Given the description of an element on the screen output the (x, y) to click on. 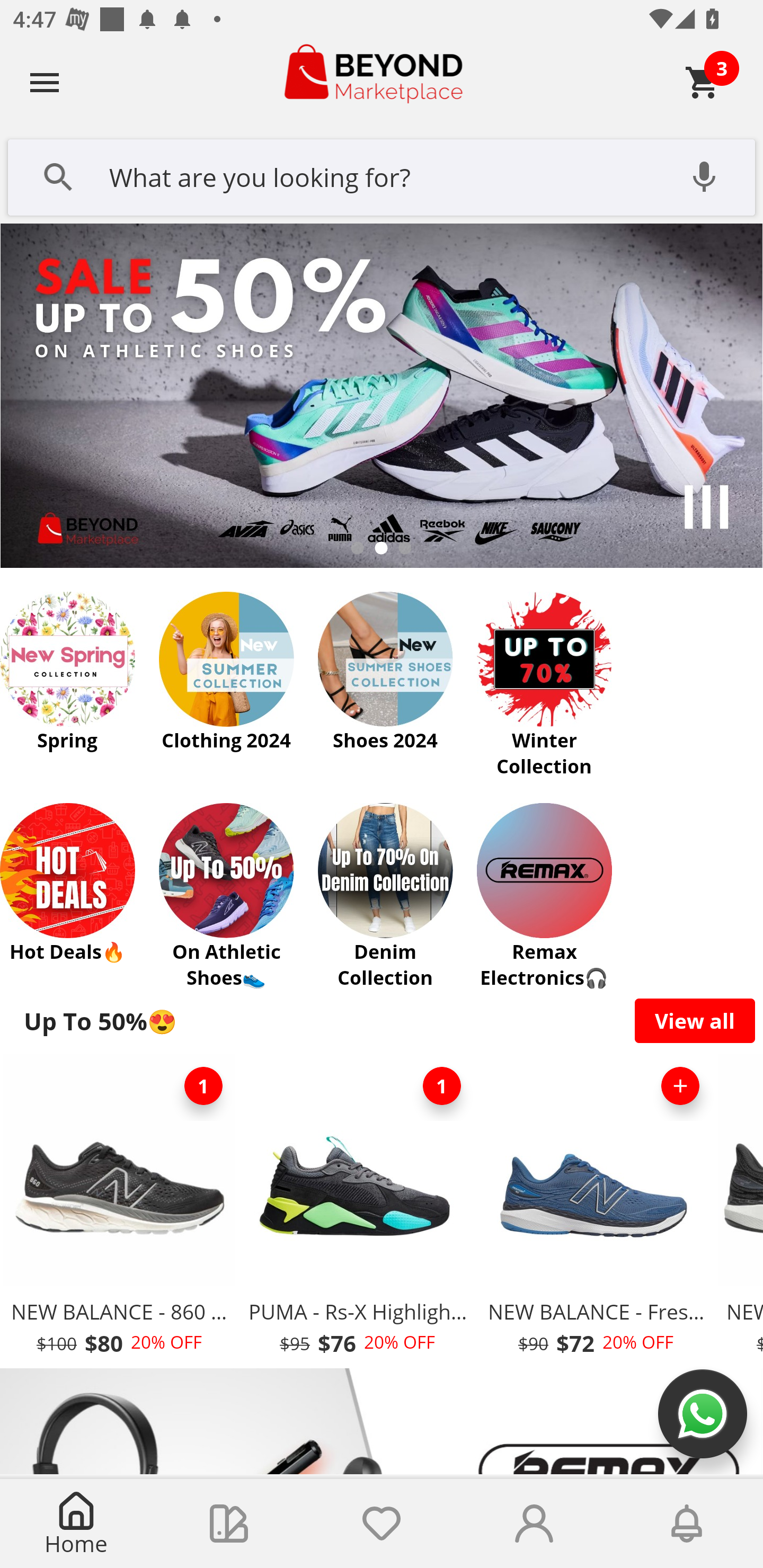
Navigate up (44, 82)
What are you looking for? (381, 175)
View all (694, 1020)
1 NEW BALANCE - 860 Running Shoes $100 $80 20% OFF (119, 1209)
1 (203, 1085)
1 (441, 1085)
Collections (228, 1523)
Wishlist (381, 1523)
Account (533, 1523)
Notifications (686, 1523)
